Given the description of an element on the screen output the (x, y) to click on. 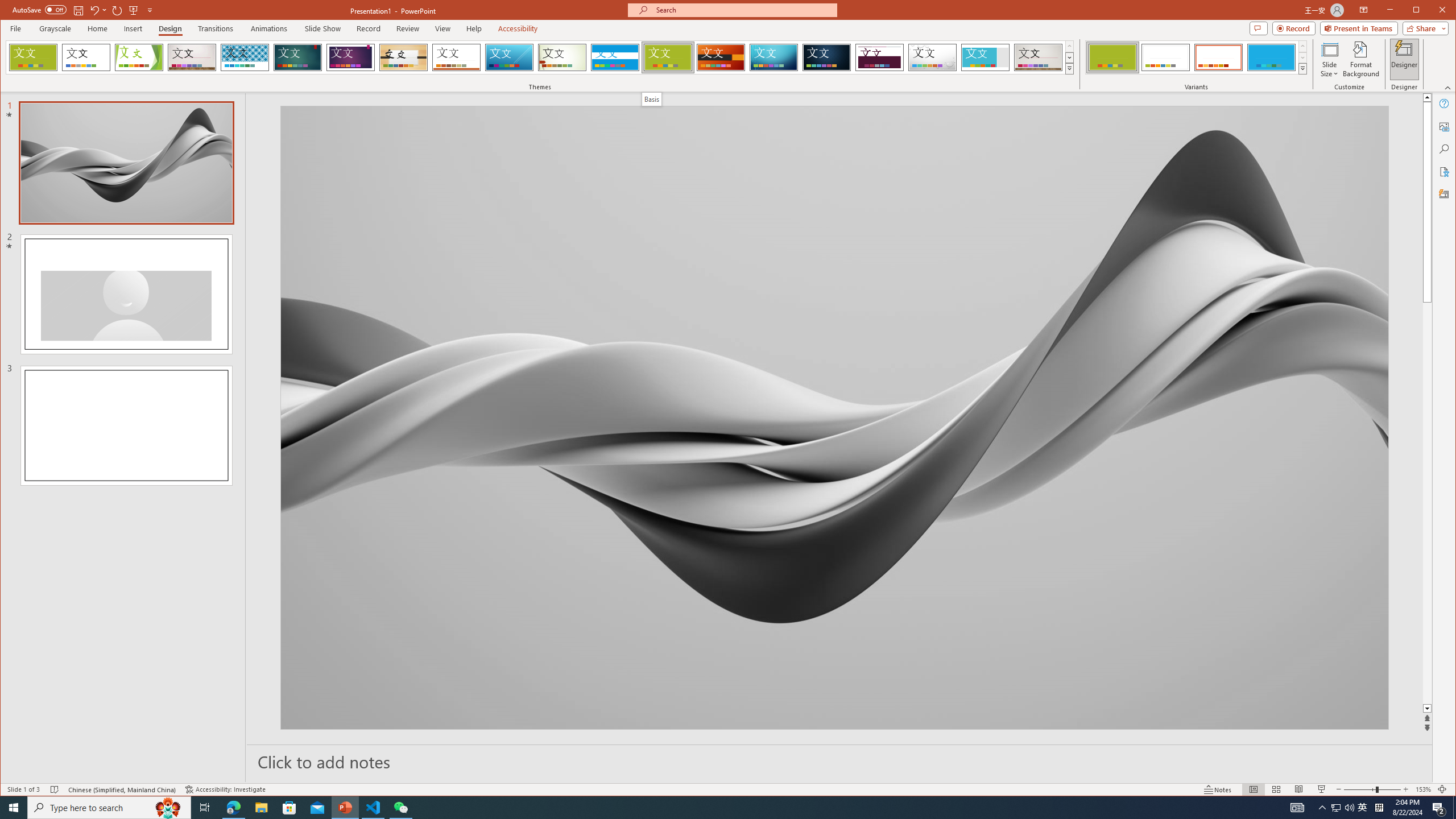
Ion (297, 57)
AutomationID: ThemeVariantsGallery (1196, 57)
Zoom 153% (1422, 789)
Variants (1302, 68)
Format Background (1360, 59)
AutomationID: SlideThemesGallery (540, 57)
